Given the description of an element on the screen output the (x, y) to click on. 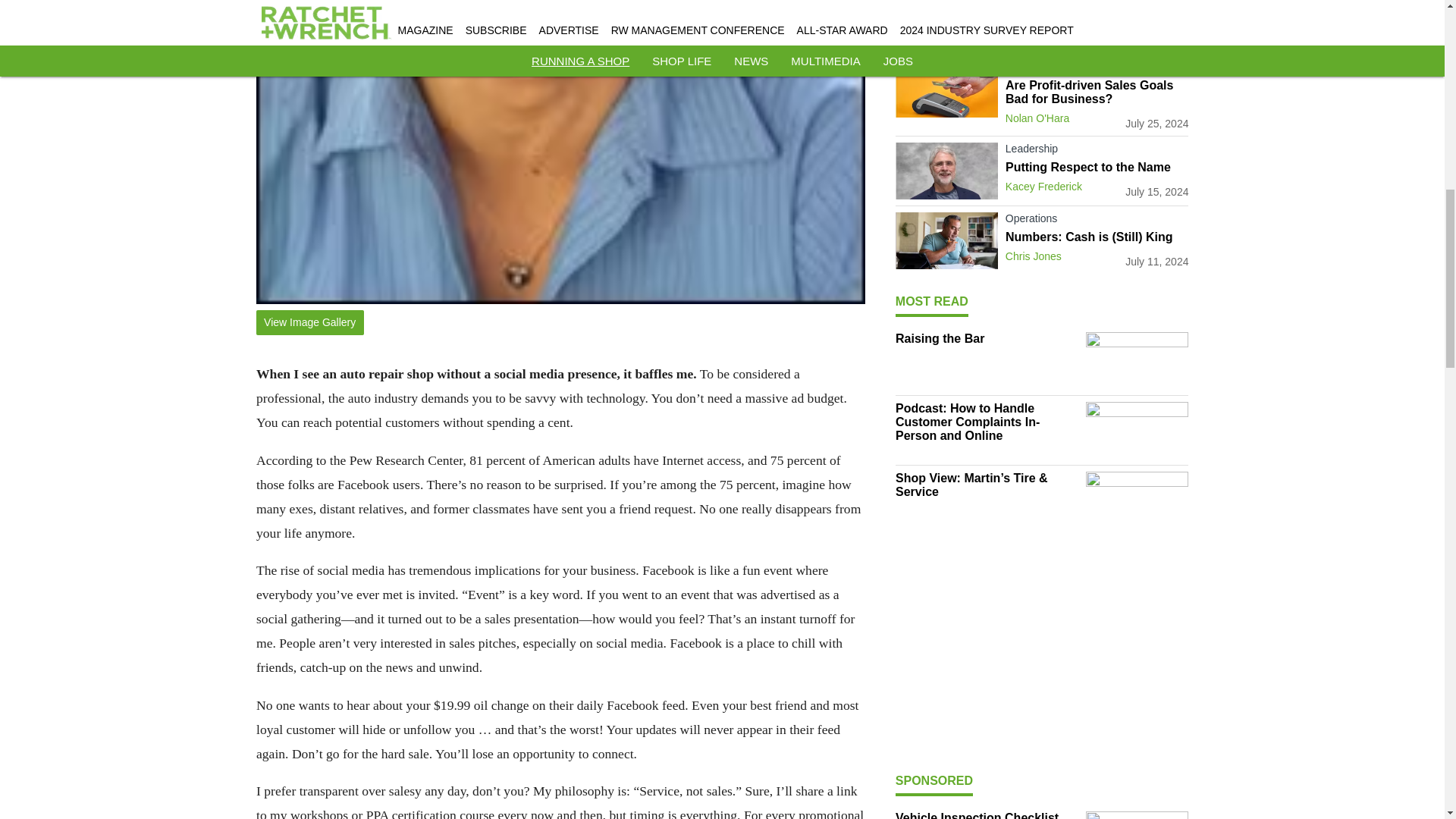
View Image Gallery (310, 322)
Are Profit-driven Sales Goals Bad for Business? (1097, 92)
Nolan O'Hara (1037, 118)
